Given the description of an element on the screen output the (x, y) to click on. 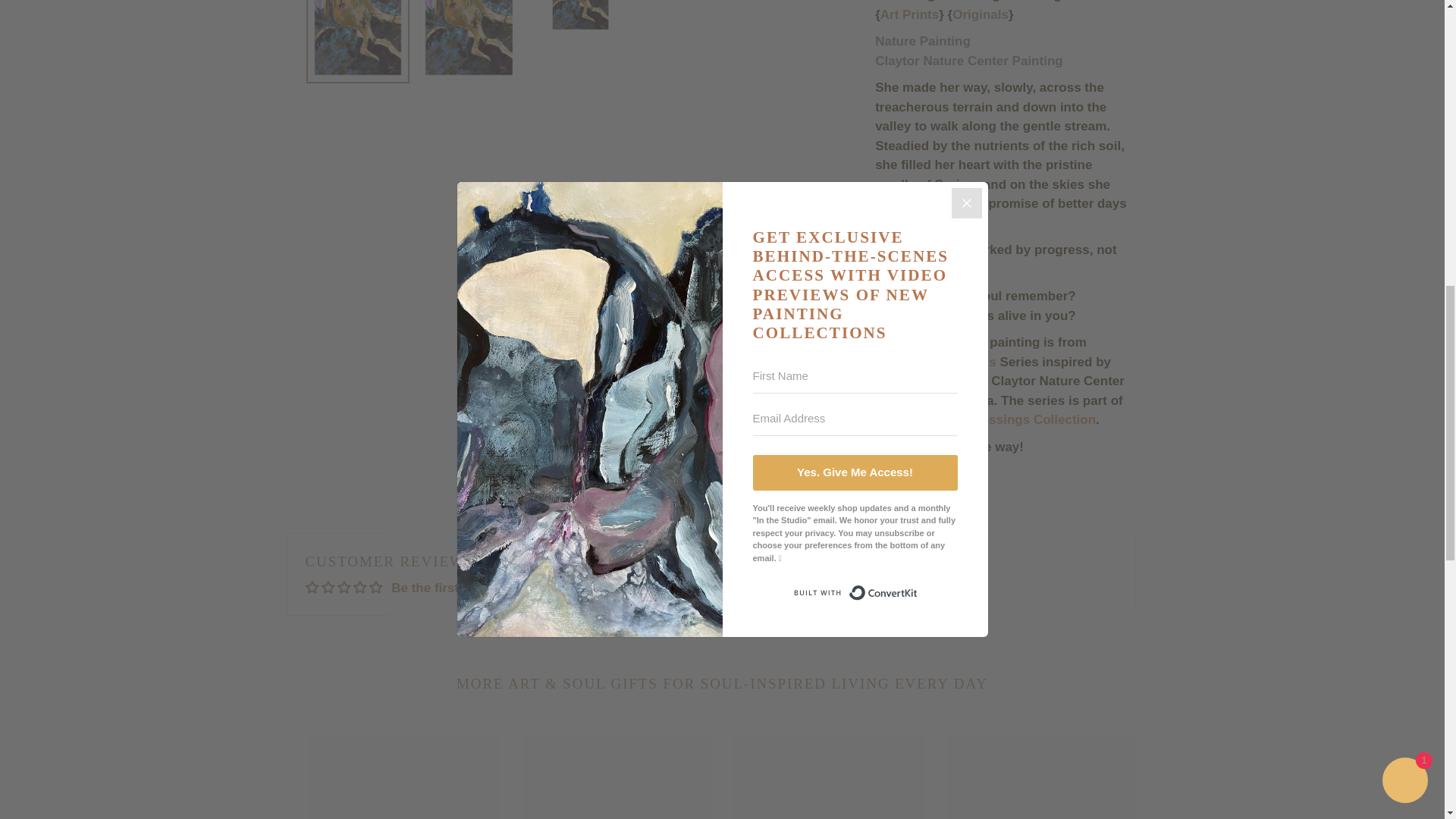
Soul of Place paintings by Virginia artist Dawn Richerson (946, 342)
Blue Ridge Parkway original paintings by Dawn Richerson (980, 14)
Blue Ridge Parkway art prints (909, 14)
